Given the description of an element on the screen output the (x, y) to click on. 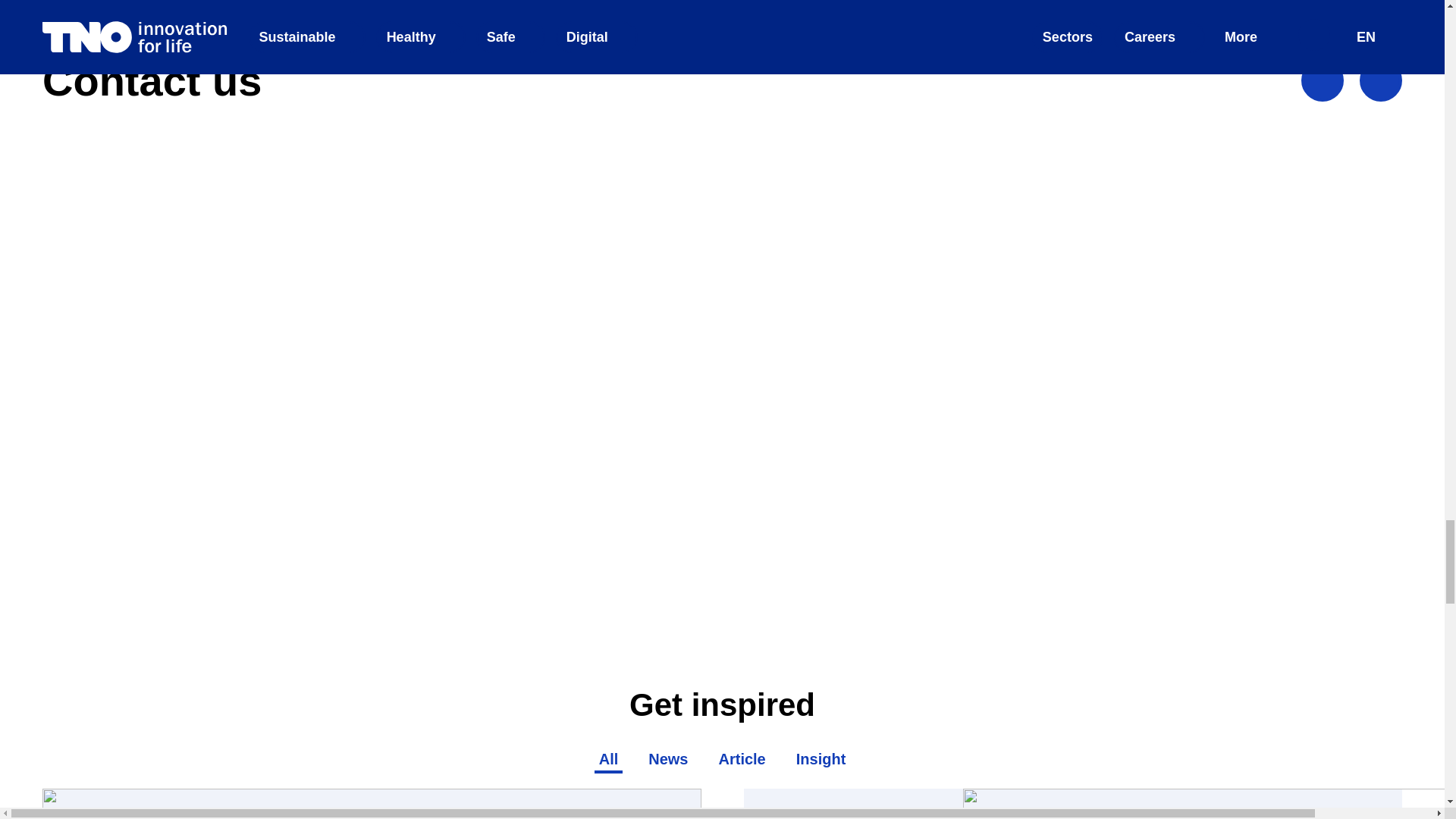
All (608, 760)
News (668, 760)
Article (742, 760)
Insight (821, 760)
